Given the description of an element on the screen output the (x, y) to click on. 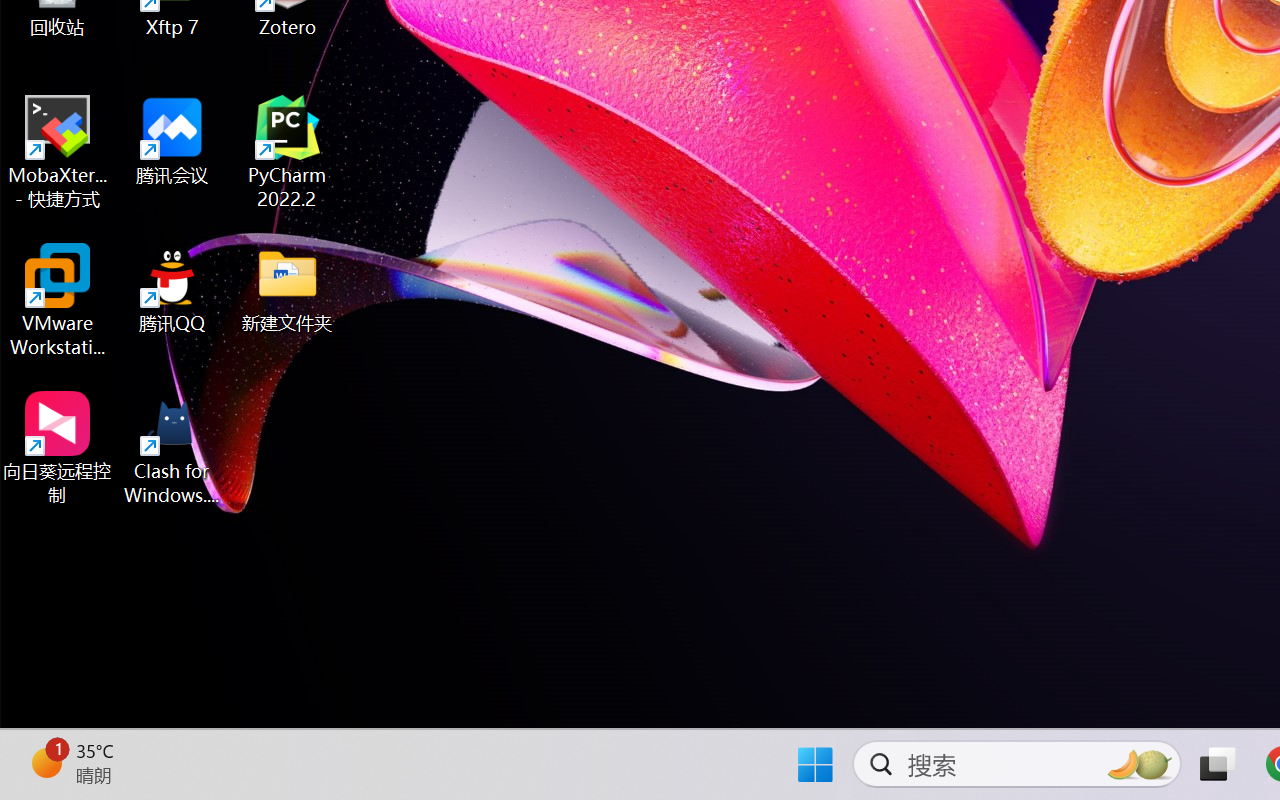
PyCharm 2022.2 (287, 152)
VMware Workstation Pro (57, 300)
